Given the description of an element on the screen output the (x, y) to click on. 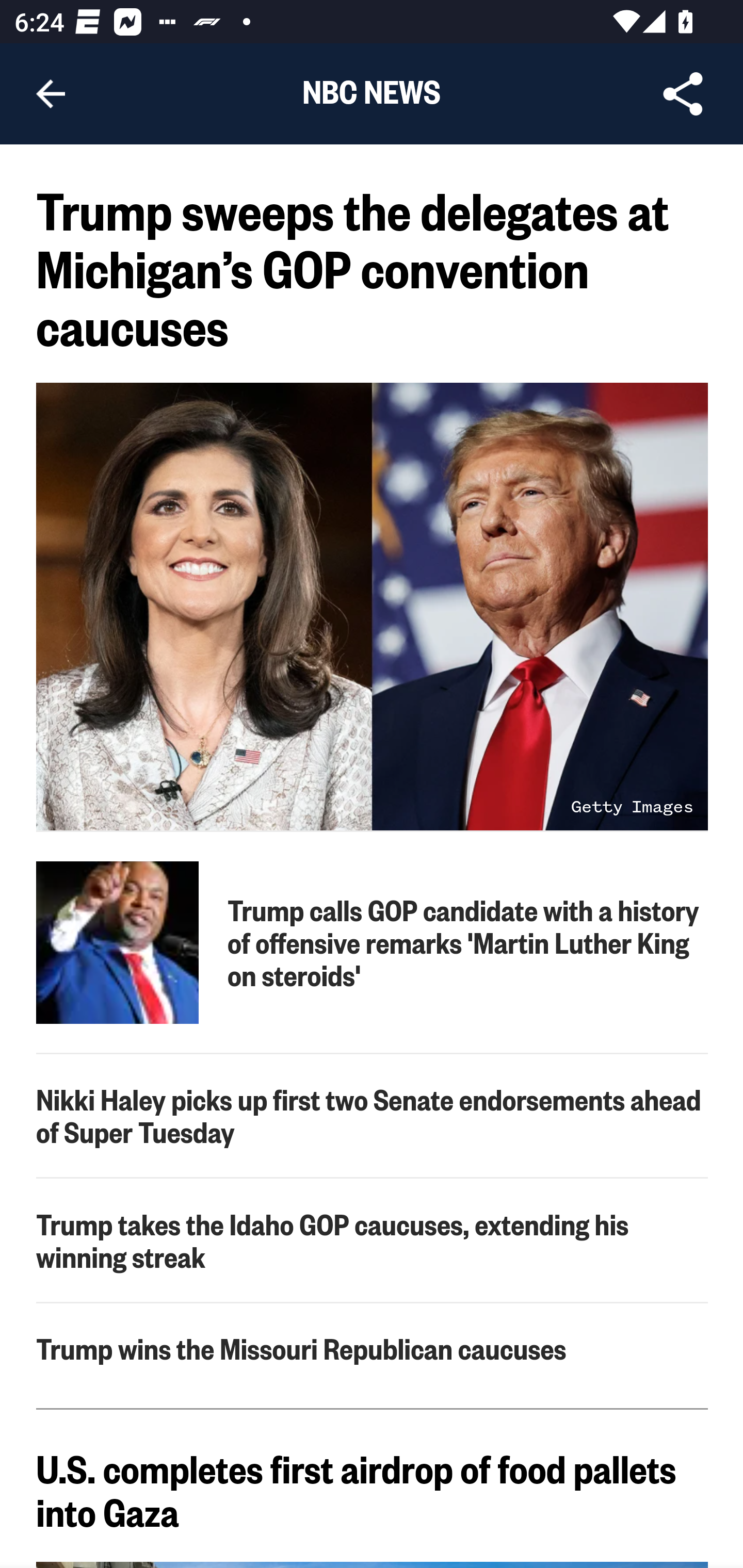
Navigate up (50, 93)
Share Article, button (683, 94)
Trump wins the Missouri Republican caucuses (372, 1348)
